Given the description of an element on the screen output the (x, y) to click on. 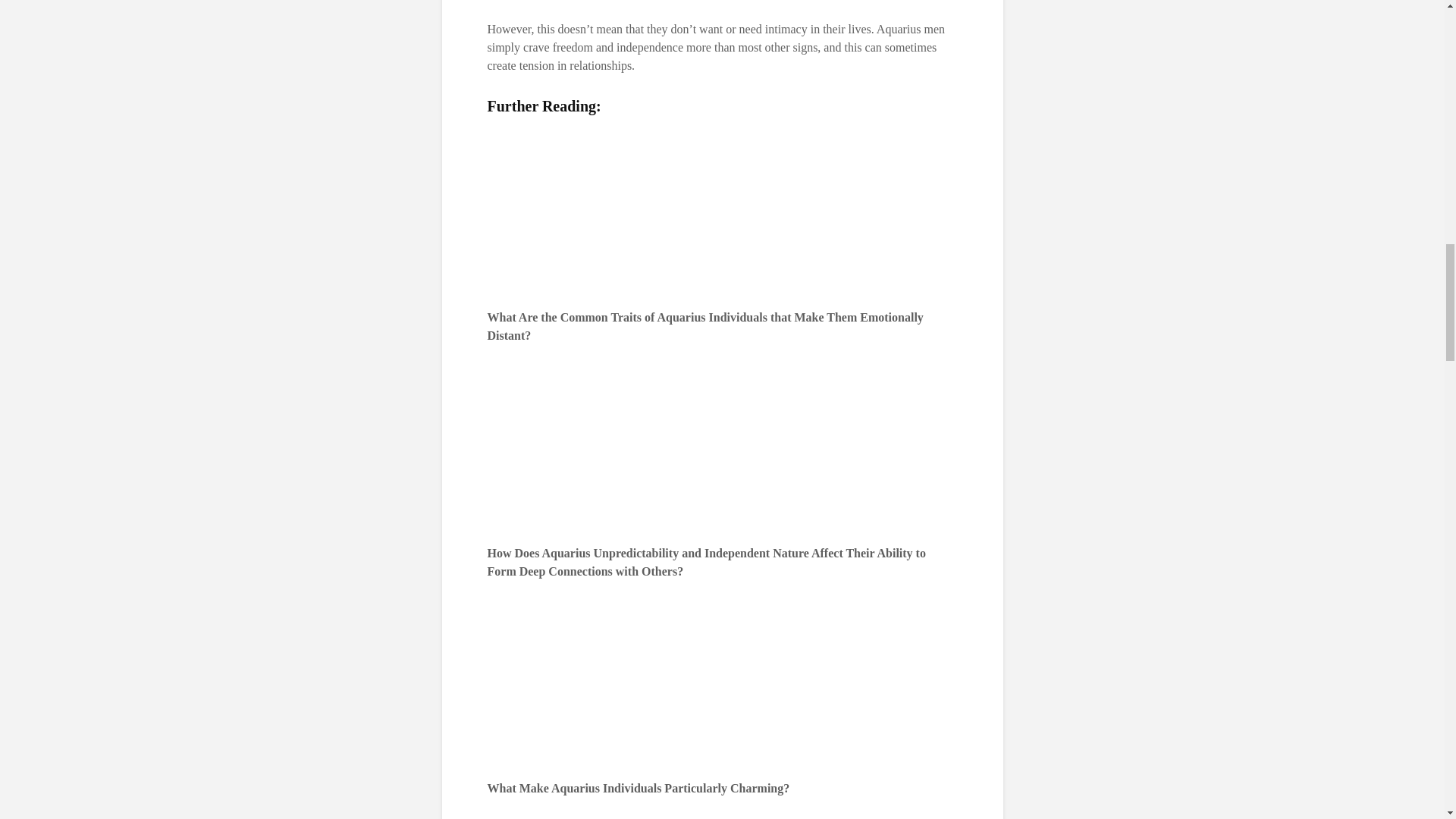
What Make Aquarius Individuals Particularly Charming? (637, 788)
